Given the description of an element on the screen output the (x, y) to click on. 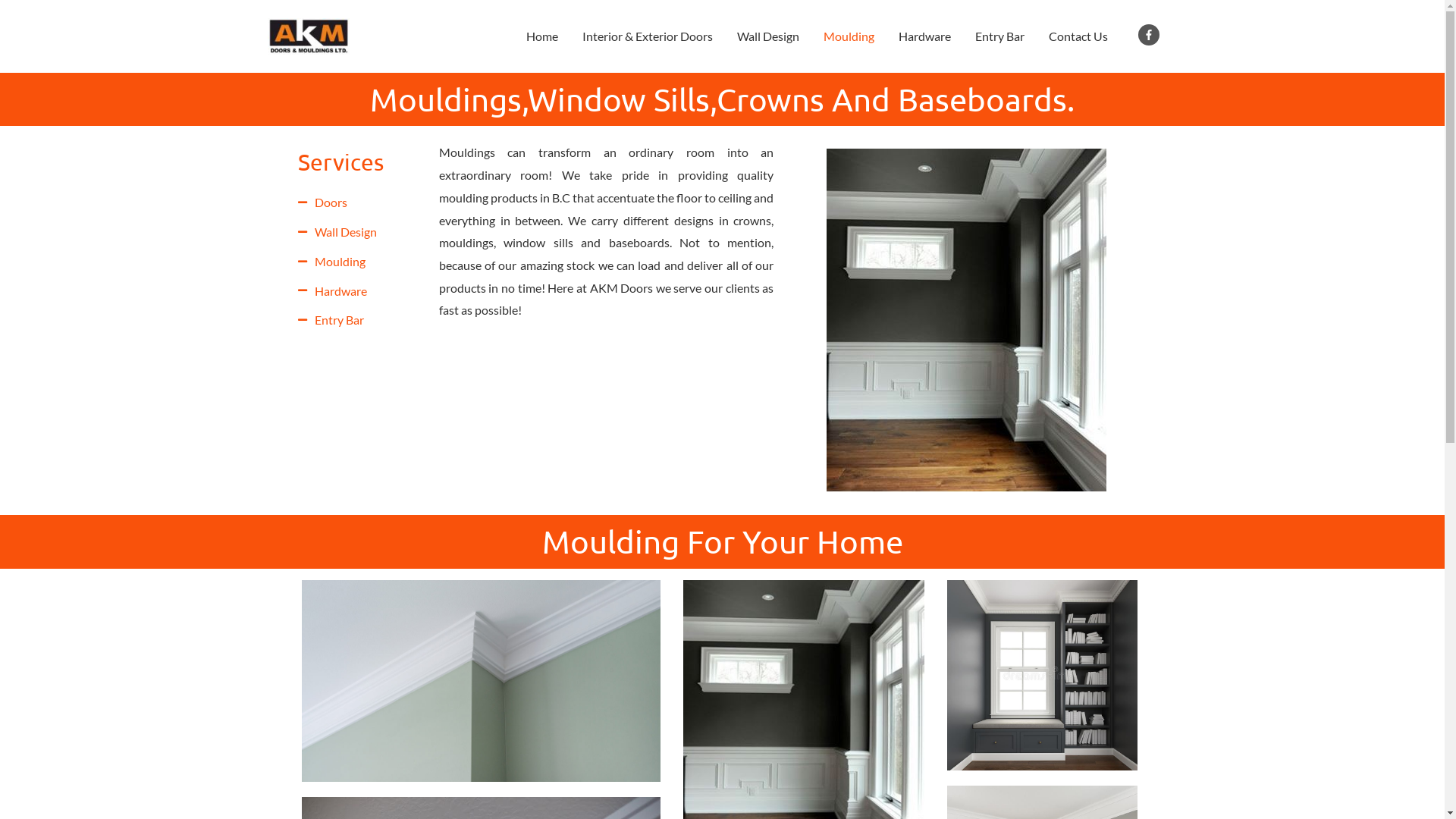
Entry Bar Element type: text (999, 36)
Wall Design Element type: text (767, 36)
Doors Element type: text (360, 202)
Moulding Element type: text (848, 36)
Moulding Element type: text (360, 261)
Contact Us Element type: text (1077, 36)
Hardware Element type: text (360, 290)
Interior & Exterior Doors Element type: text (647, 36)
Hardware Element type: text (923, 36)
Home Element type: text (542, 36)
Entry Bar Element type: text (360, 319)
Wall Design Element type: text (360, 231)
